Given the description of an element on the screen output the (x, y) to click on. 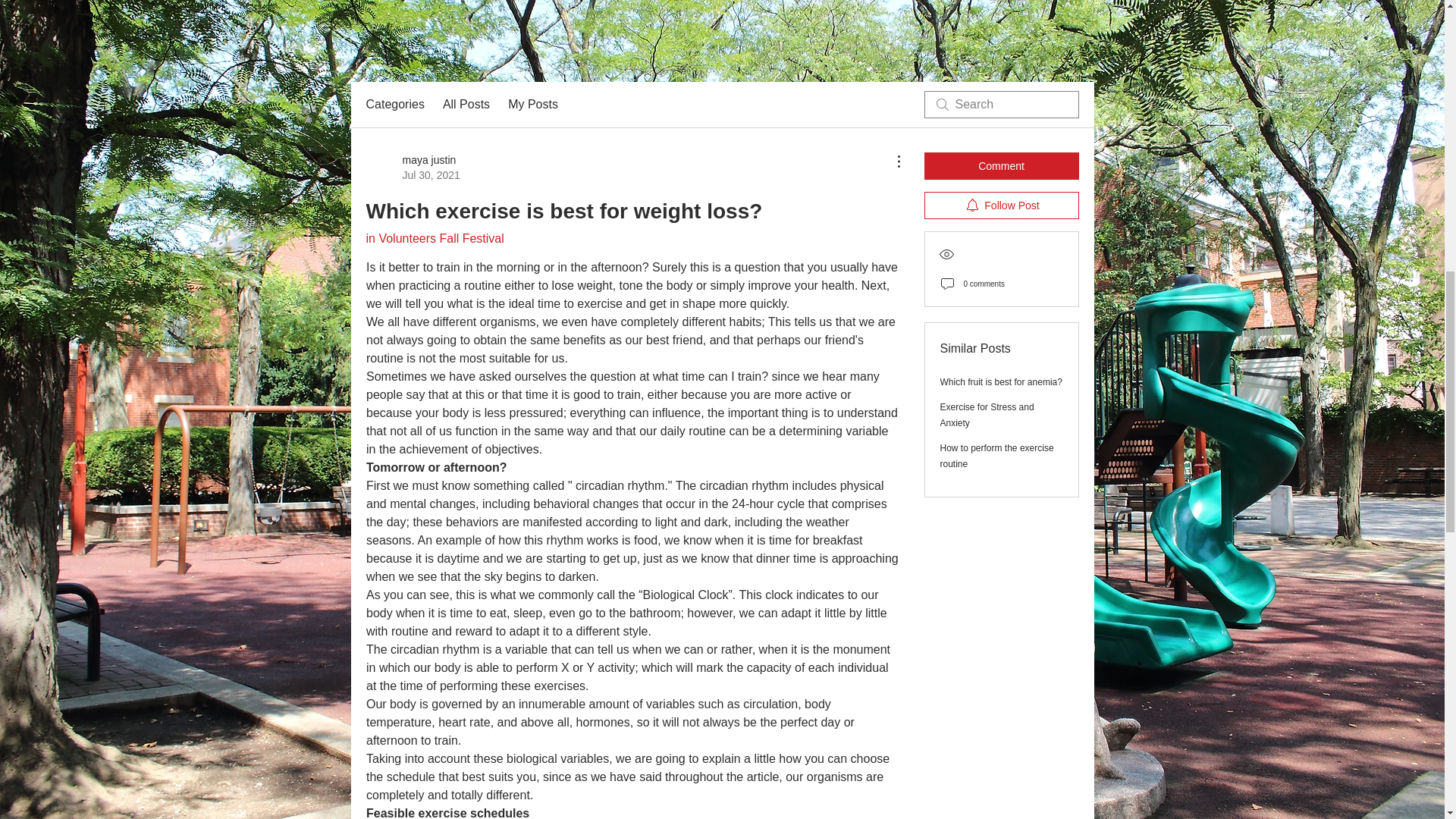
All Posts (465, 104)
Which fruit is best for anemia? (412, 167)
in Volunteers Fall Festival (1001, 381)
My Posts (434, 237)
Categories (532, 104)
Follow Post (394, 104)
How to perform the exercise routine (1000, 205)
Exercise for Stress and Anxiety (997, 456)
Comment (986, 415)
